Given the description of an element on the screen output the (x, y) to click on. 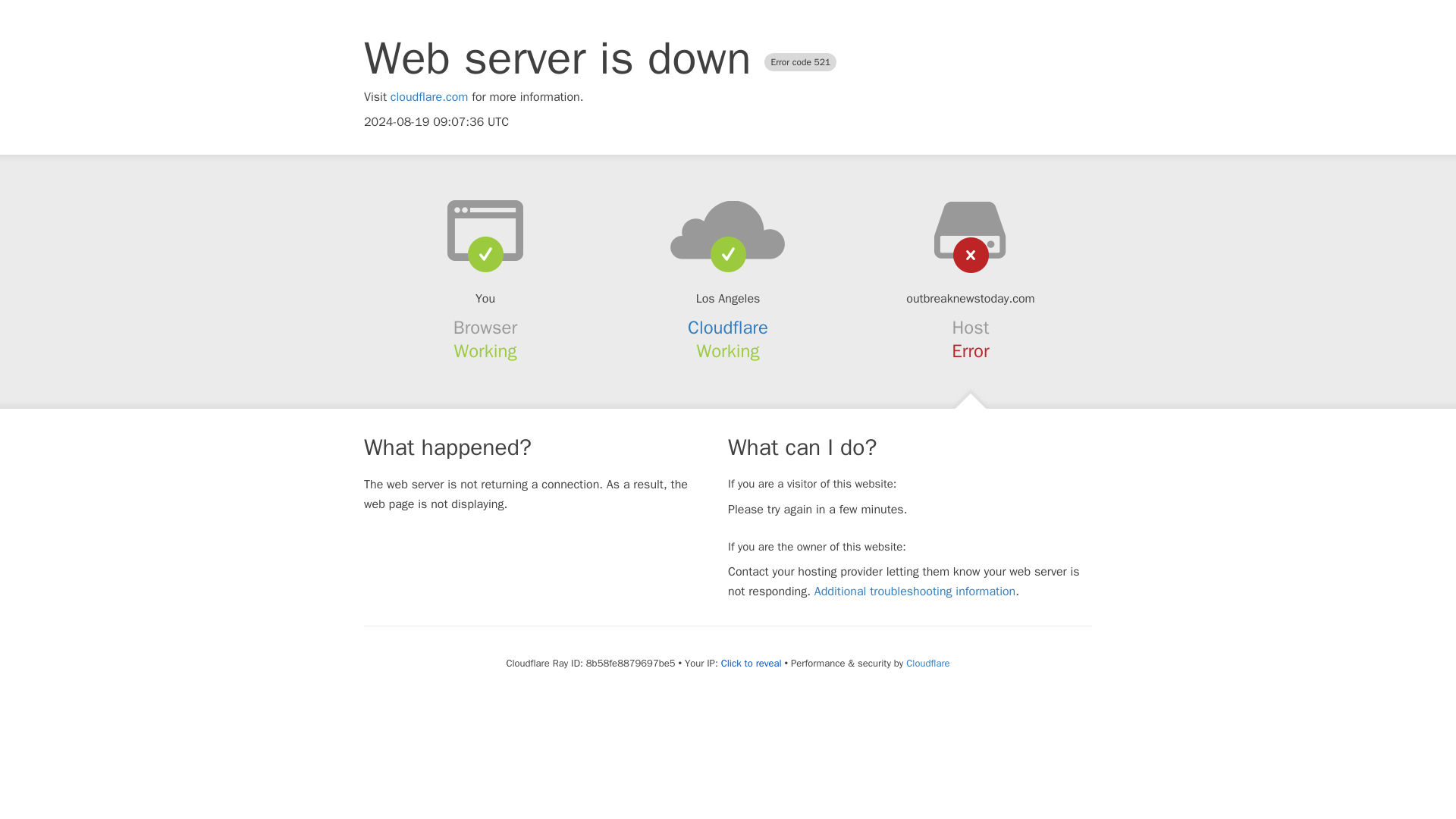
cloudflare.com (429, 96)
Cloudflare (727, 327)
Click to reveal (750, 663)
Additional troubleshooting information (913, 590)
Cloudflare (927, 662)
